Given the description of an element on the screen output the (x, y) to click on. 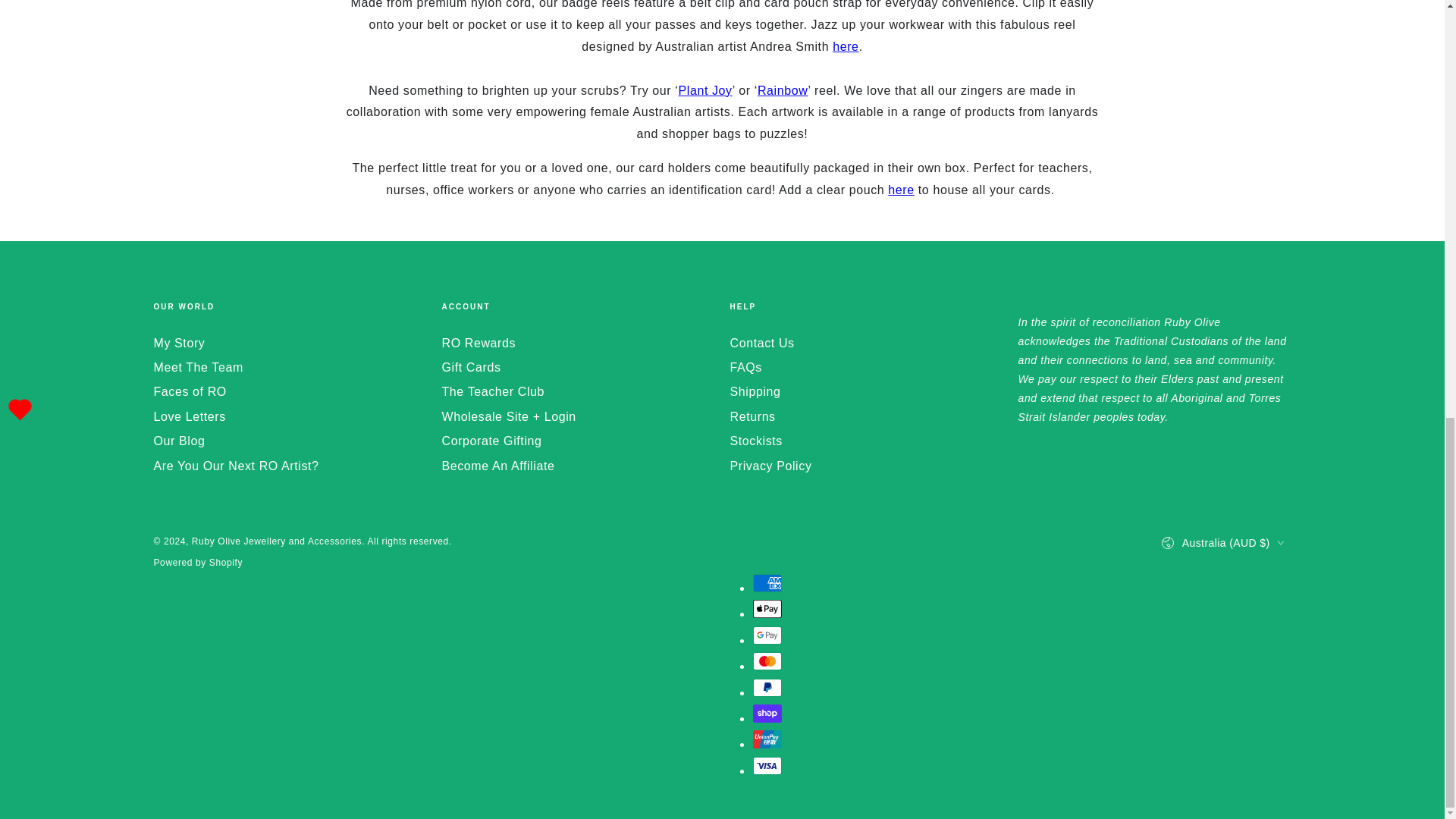
Shop Pay (766, 713)
Google Pay (766, 635)
Apple Pay (766, 608)
PayPal (766, 687)
American Express (766, 583)
Union Pay (766, 739)
Mastercard (766, 660)
